Given the description of an element on the screen output the (x, y) to click on. 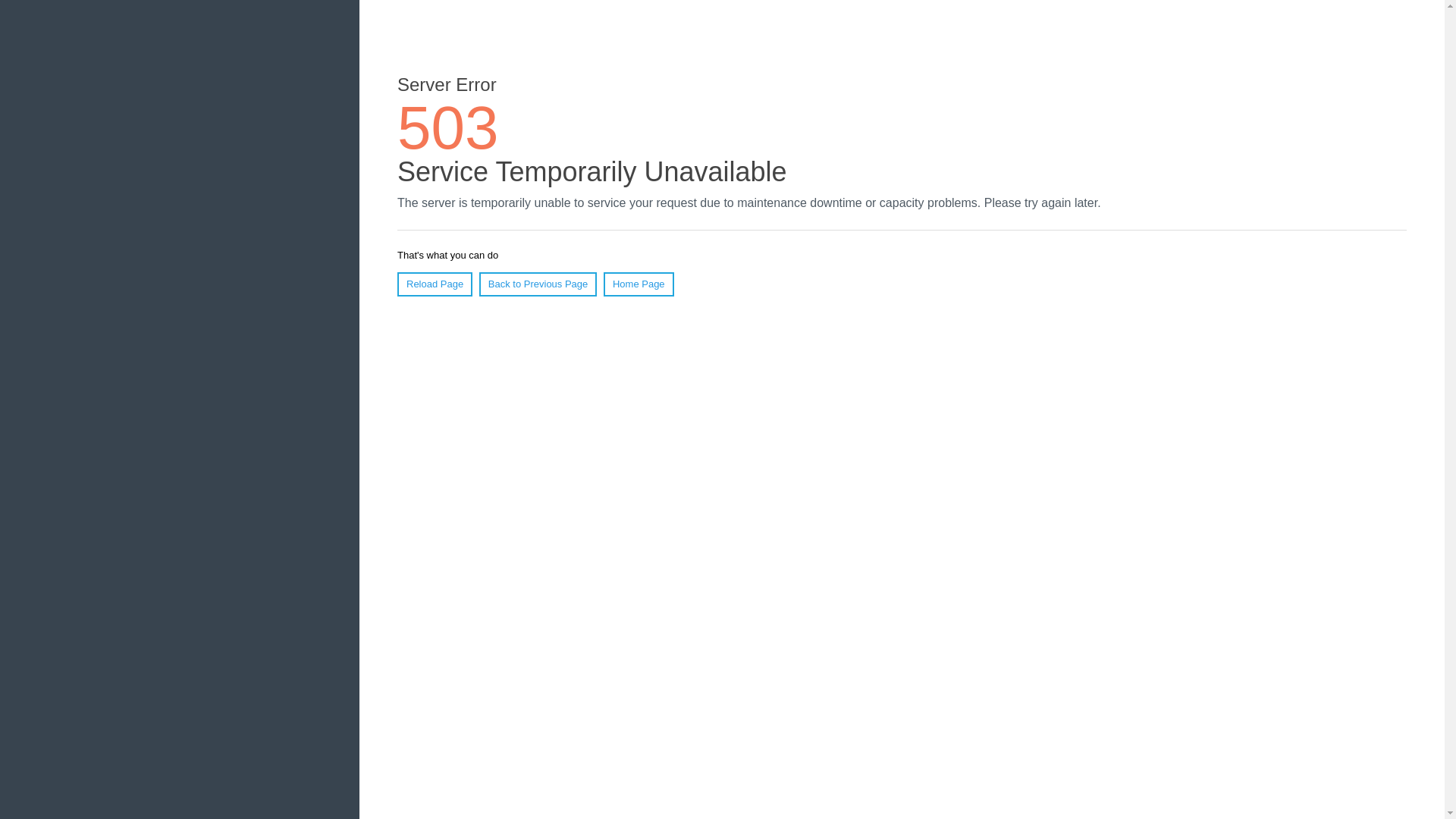
Home Page (639, 283)
Back to Previous Page (537, 283)
Reload Page (434, 283)
